Given the description of an element on the screen output the (x, y) to click on. 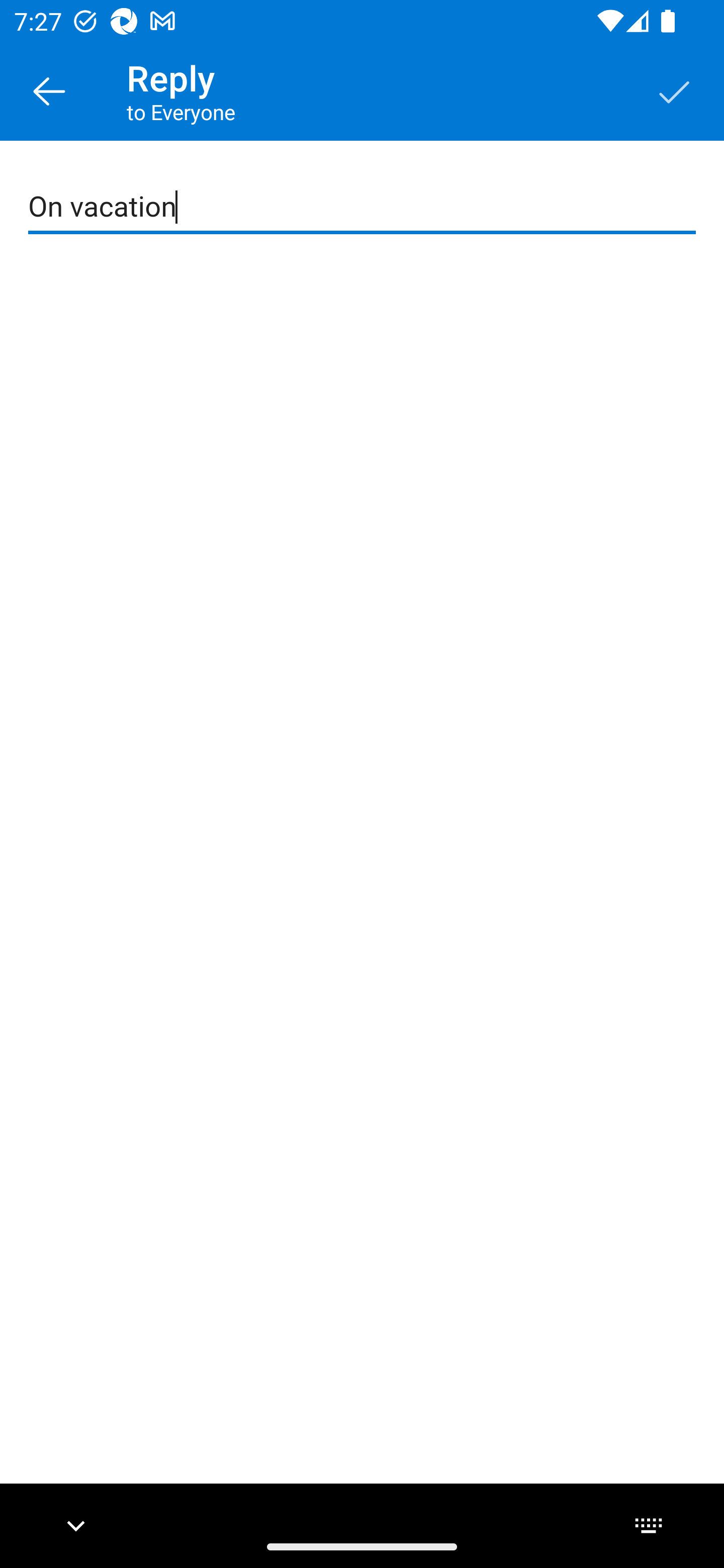
Back (49, 90)
Save (674, 90)
On vacation (363, 206)
